Given the description of an element on the screen output the (x, y) to click on. 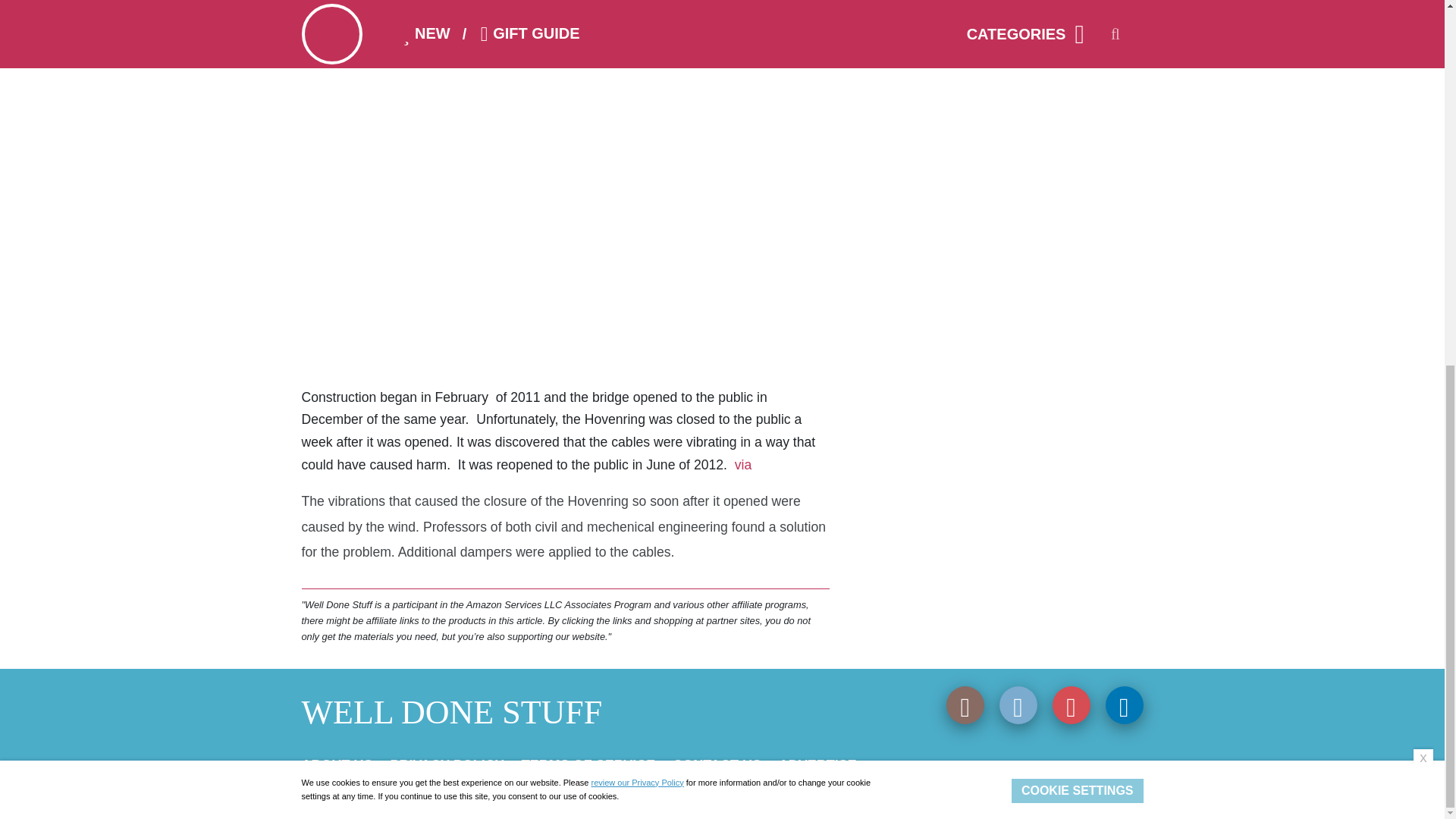
ABOUT US (336, 765)
CONTACT US (716, 765)
ADVERTISE (817, 765)
PRIVACY POLICY (446, 765)
 via (740, 464)
TERMS OF SERVICE (588, 765)
WELL DONE STUFF (451, 712)
